Given the description of an element on the screen output the (x, y) to click on. 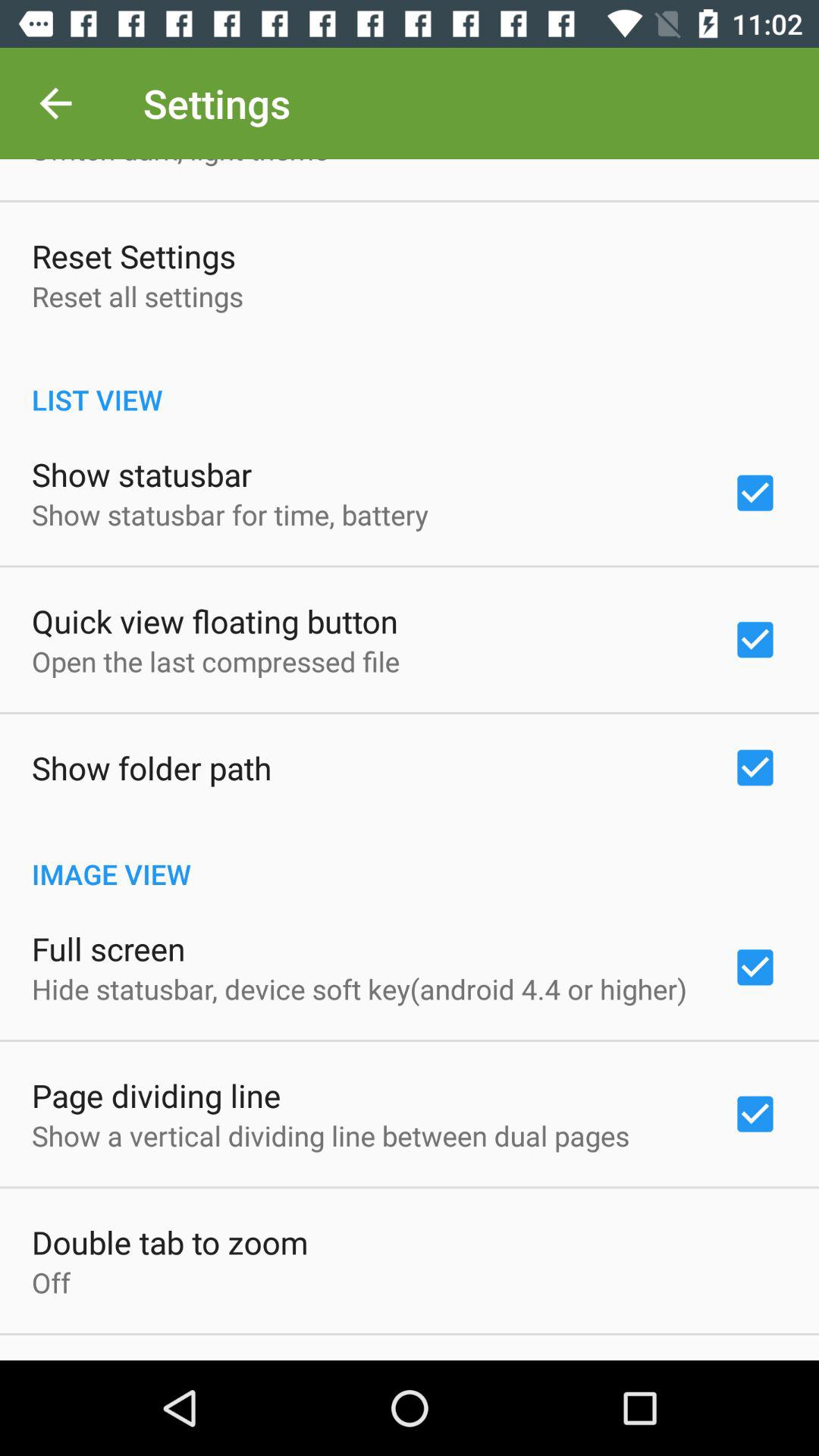
turn on item below show statusbar for (214, 620)
